Given the description of an element on the screen output the (x, y) to click on. 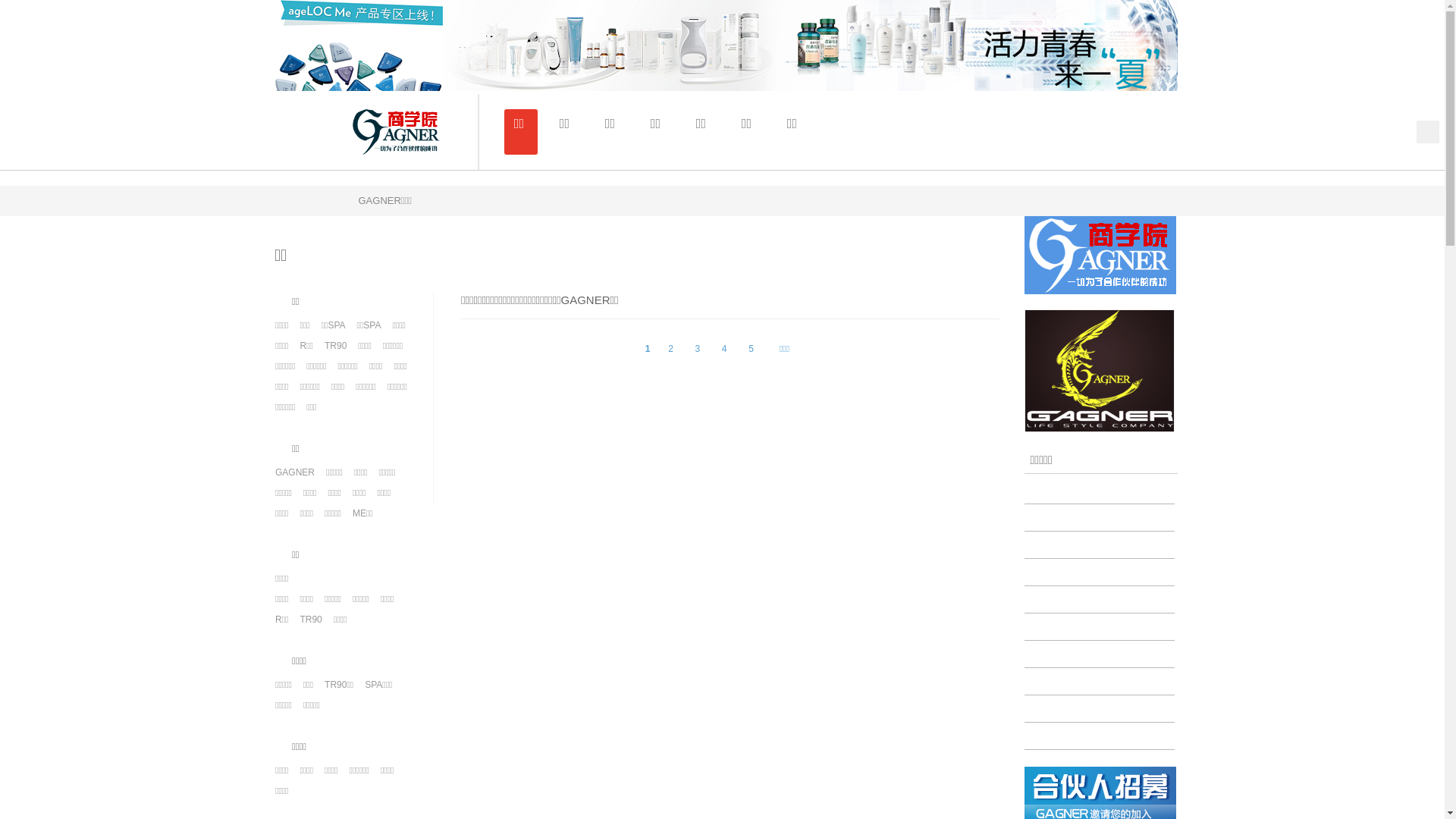
TR90 Element type: text (310, 619)
5 Element type: text (751, 349)
1 Element type: text (647, 349)
TR90 Element type: text (335, 345)
3 Element type: text (697, 349)
4 Element type: text (724, 349)
GAGNER Element type: text (294, 472)
2 Element type: text (670, 349)
